Given the description of an element on the screen output the (x, y) to click on. 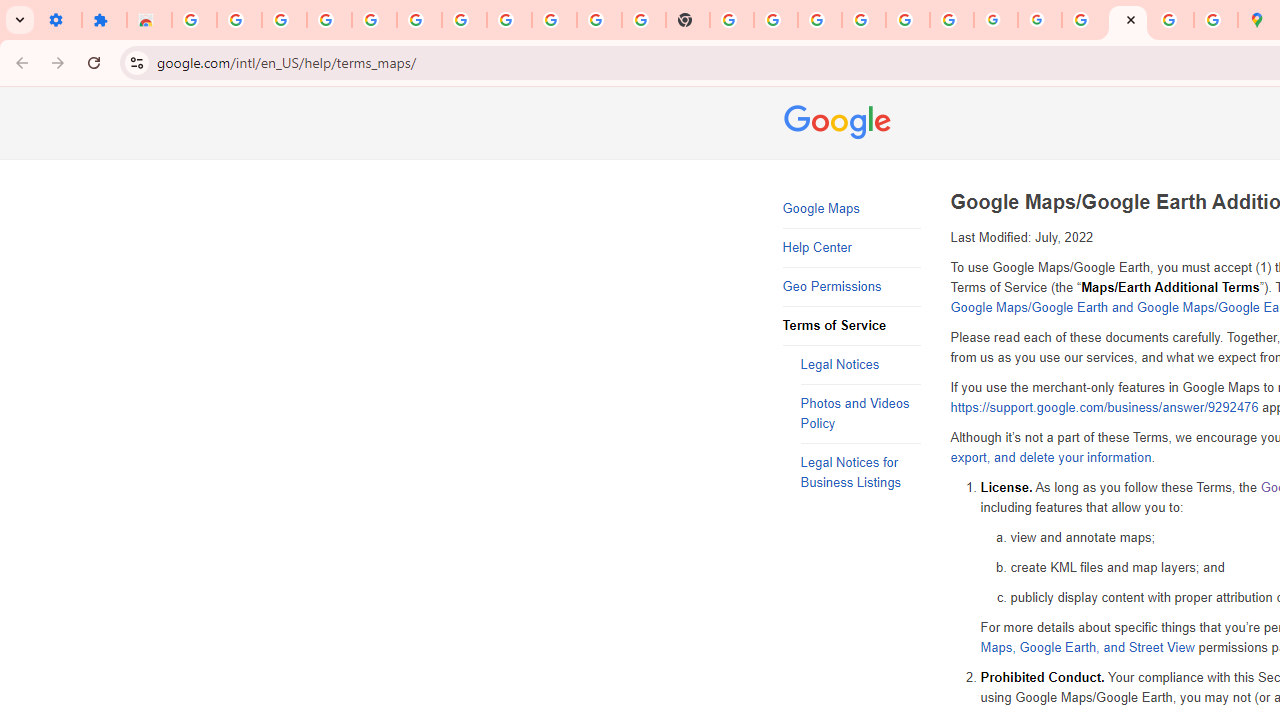
Safety in Our Products - Google Safety Center (1215, 20)
Sign in - Google Accounts (194, 20)
Forward (57, 62)
Settings - On startup (59, 20)
Back (19, 62)
Google Maps (851, 209)
Photos and Videos Policy (860, 414)
Sign in - Google Accounts (863, 20)
New Tab (687, 20)
Reload (93, 62)
